Given the description of an element on the screen output the (x, y) to click on. 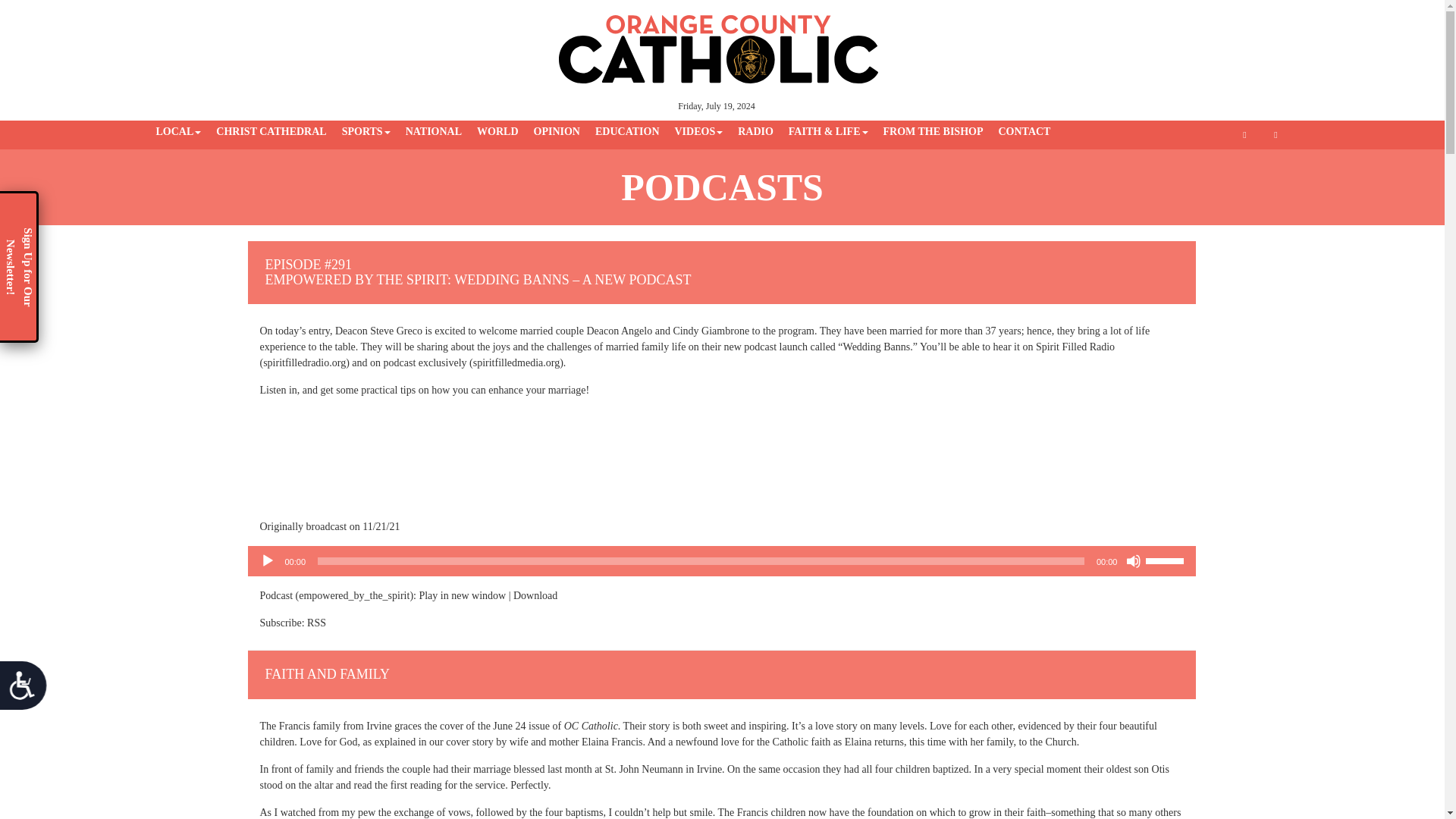
Download (535, 595)
Accessibility (29, 690)
RADIO (755, 131)
Subscribe via RSS (316, 622)
Download (535, 595)
Mute (1133, 560)
Play in new window (462, 595)
CHRIST CATHEDRAL (270, 131)
OPINION (556, 131)
FROM THE BISHOP (932, 131)
VIDEOS (698, 131)
WORLD (496, 131)
CONTACT (1024, 131)
LOCAL (178, 131)
